Given the description of an element on the screen output the (x, y) to click on. 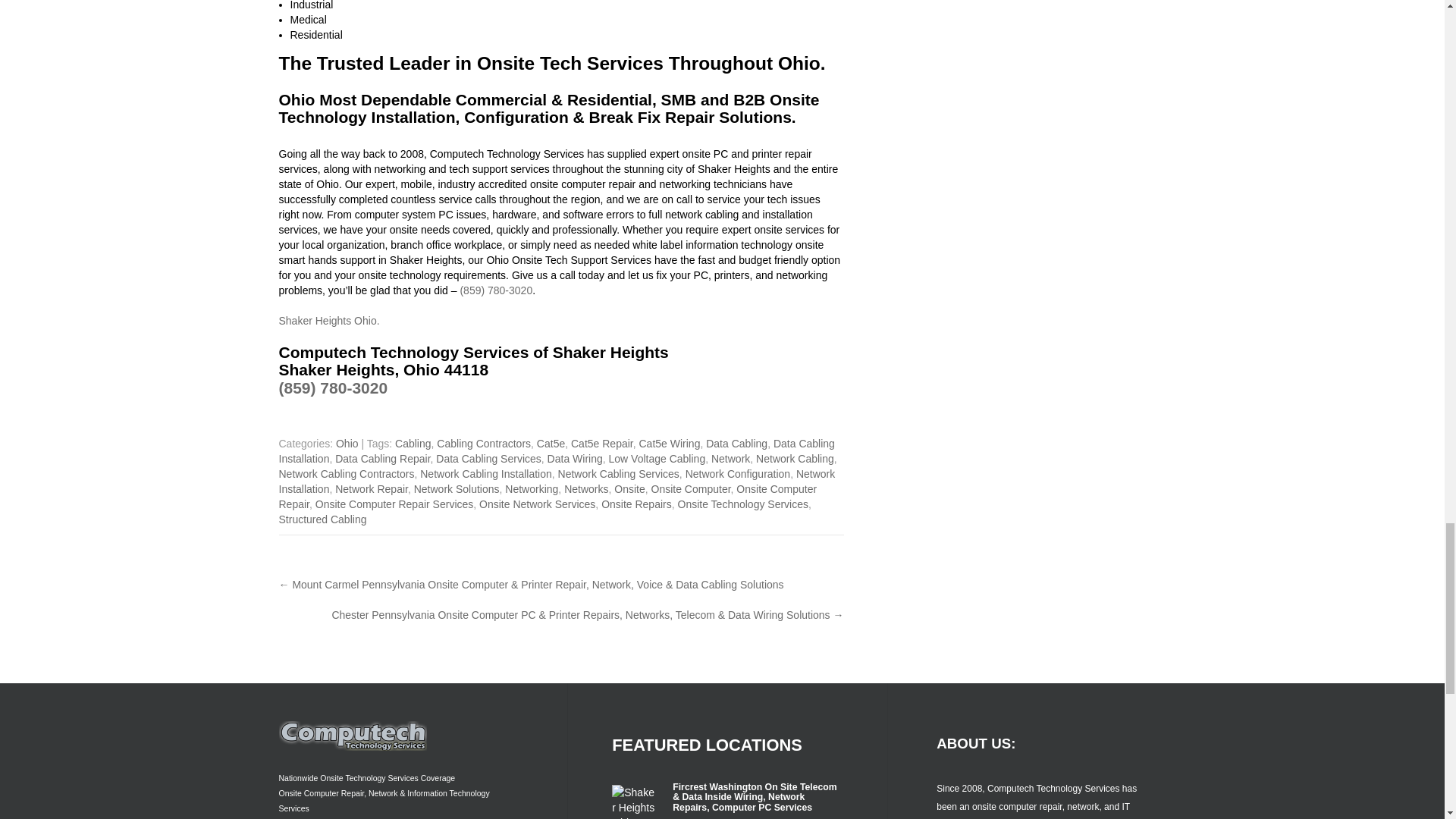
View all posts in Ohio (347, 443)
